Given the description of an element on the screen output the (x, y) to click on. 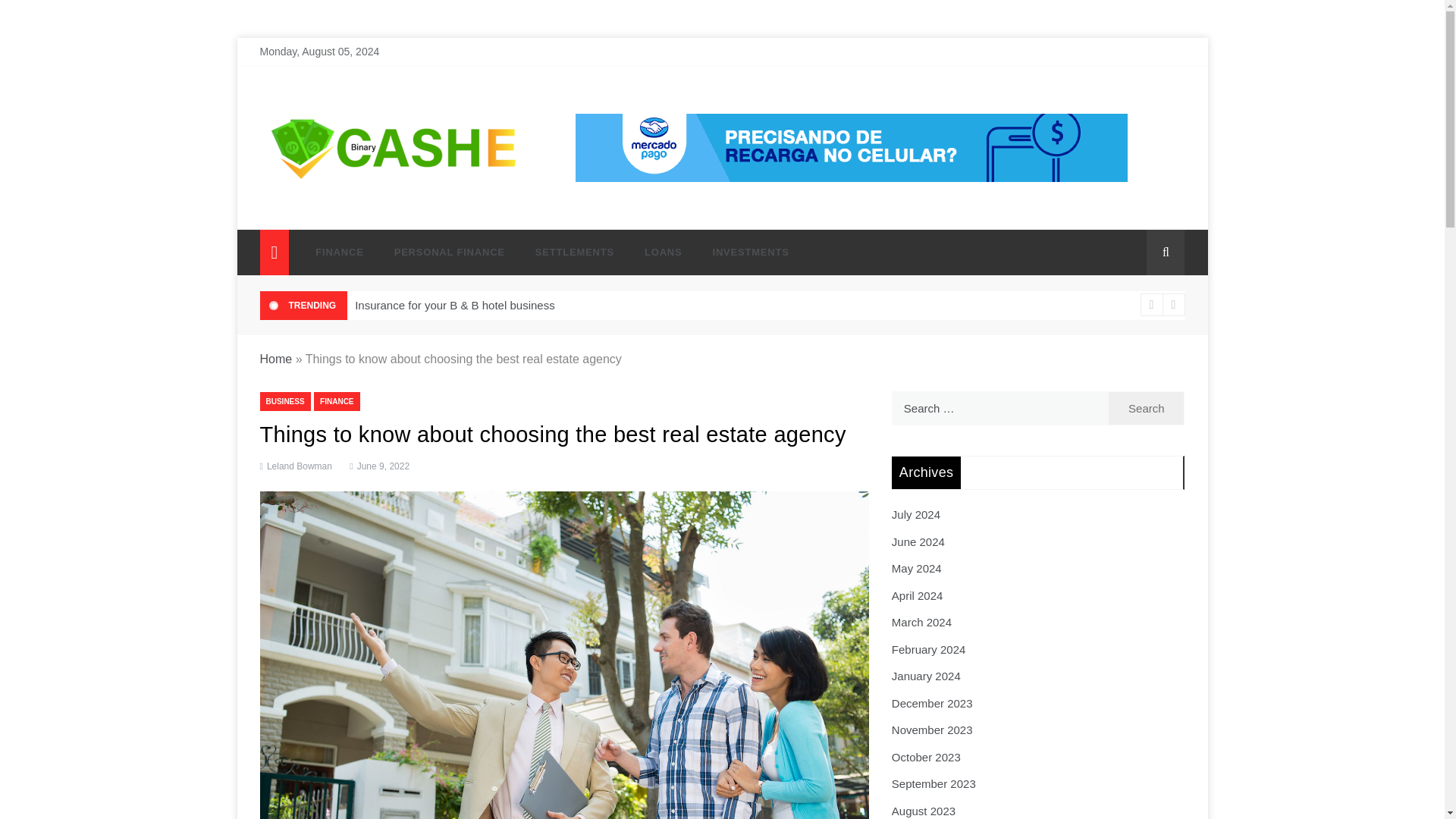
LOANS (662, 252)
Search (1146, 408)
Search (1146, 408)
PERSONAL FINANCE (448, 252)
FINANCE (338, 252)
Binary Cashe (326, 210)
INVESTMENTS (743, 252)
SETTLEMENTS (573, 252)
